Given the description of an element on the screen output the (x, y) to click on. 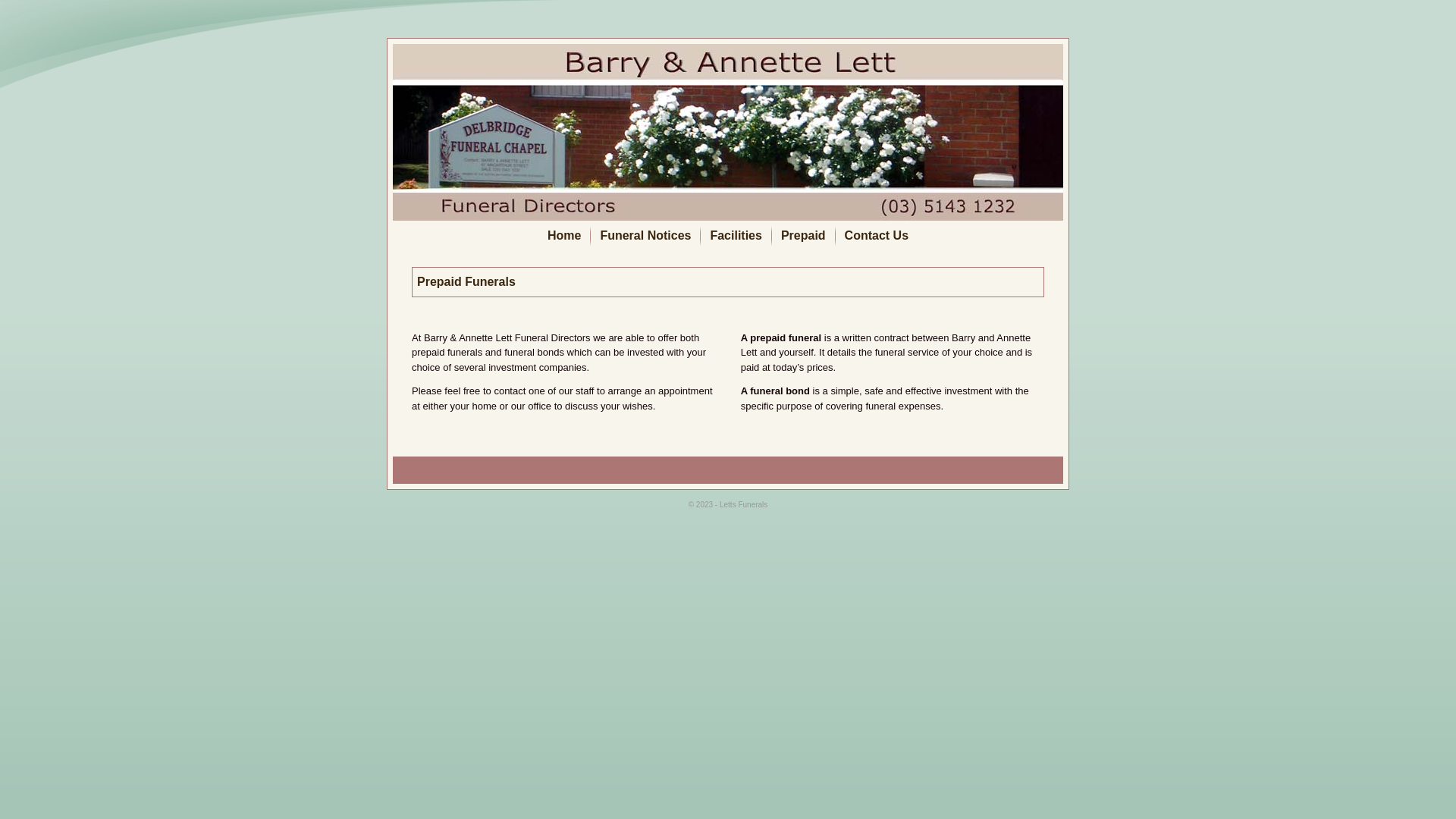
Facilities Element type: text (735, 235)
Prepaid Element type: text (802, 235)
Funeral Notices Element type: text (644, 235)
Home Element type: text (563, 235)
Contact Us Element type: text (876, 235)
